Given the description of an element on the screen output the (x, y) to click on. 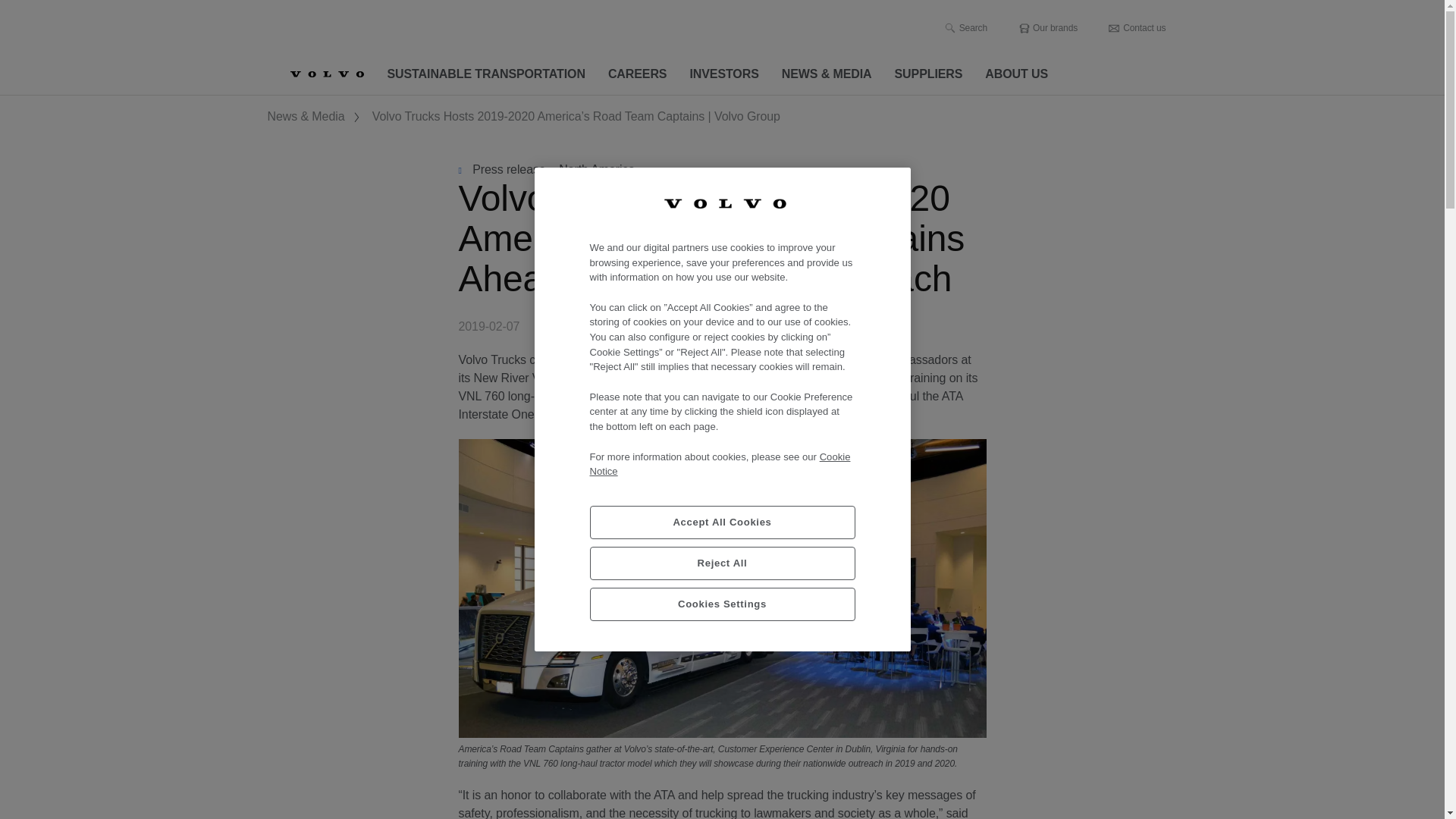
Investors (724, 74)
Sustainable Transportation (485, 74)
SUSTAINABLE TRANSPORTATION (485, 74)
Our brands (1047, 28)
CAREERS (637, 74)
INVESTORS (724, 74)
Contact us (1137, 28)
Careers (637, 74)
